Given the description of an element on the screen output the (x, y) to click on. 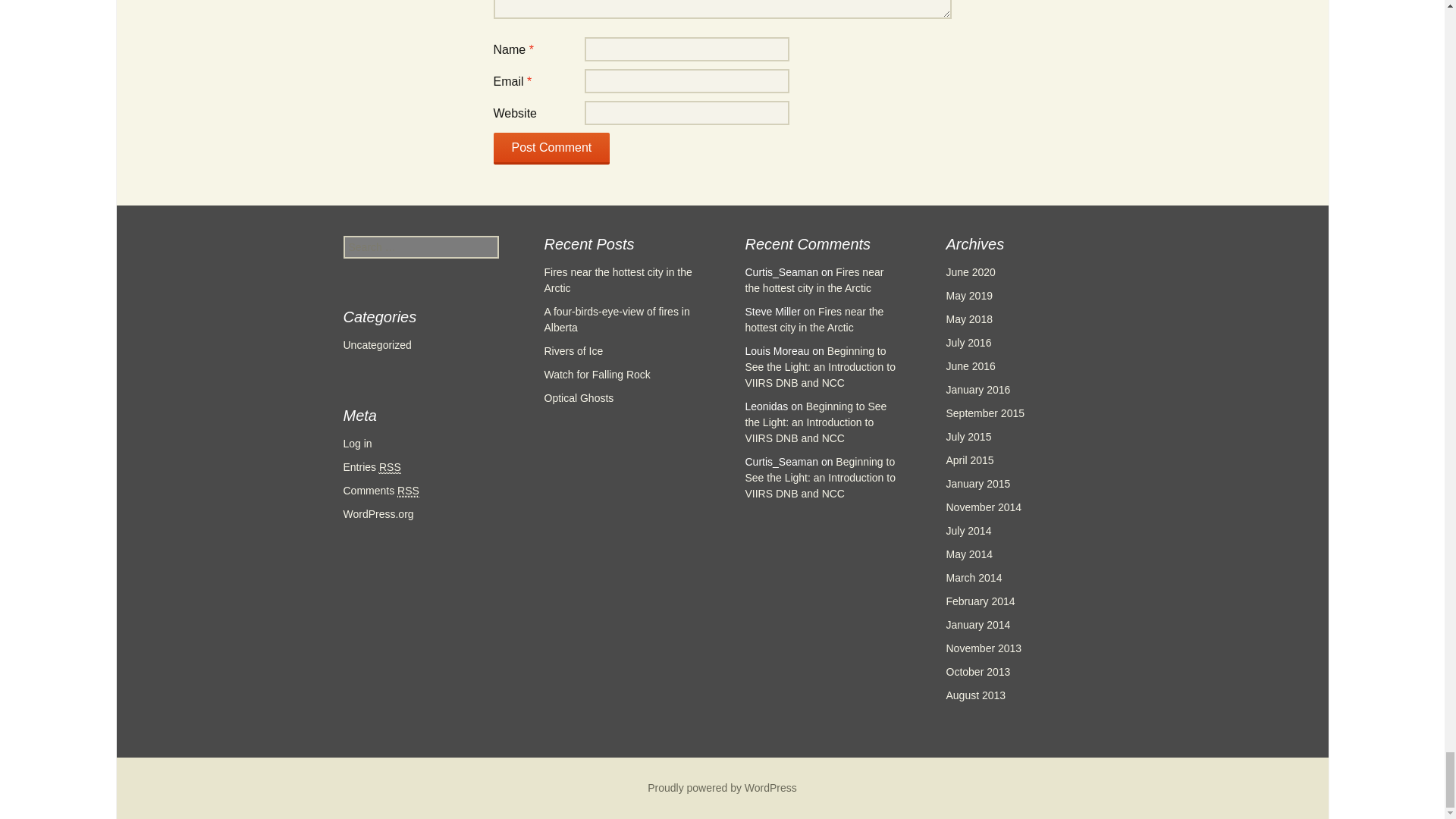
Post Comment (551, 148)
